Given the description of an element on the screen output the (x, y) to click on. 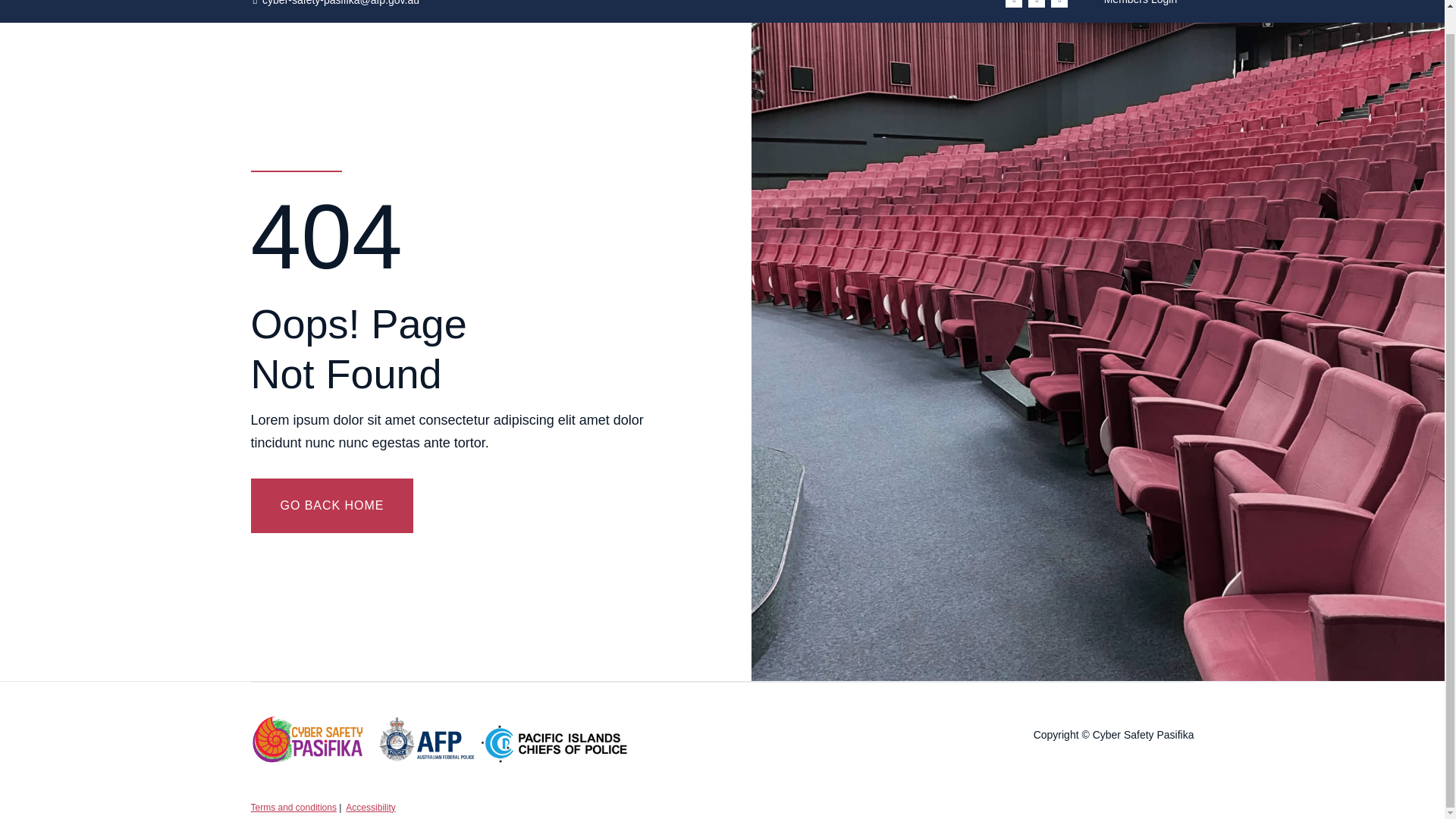
GO BACK HOME (331, 505)
Accessibility (370, 807)
Terms and conditions (293, 807)
Members Login (1140, 5)
